Given the description of an element on the screen output the (x, y) to click on. 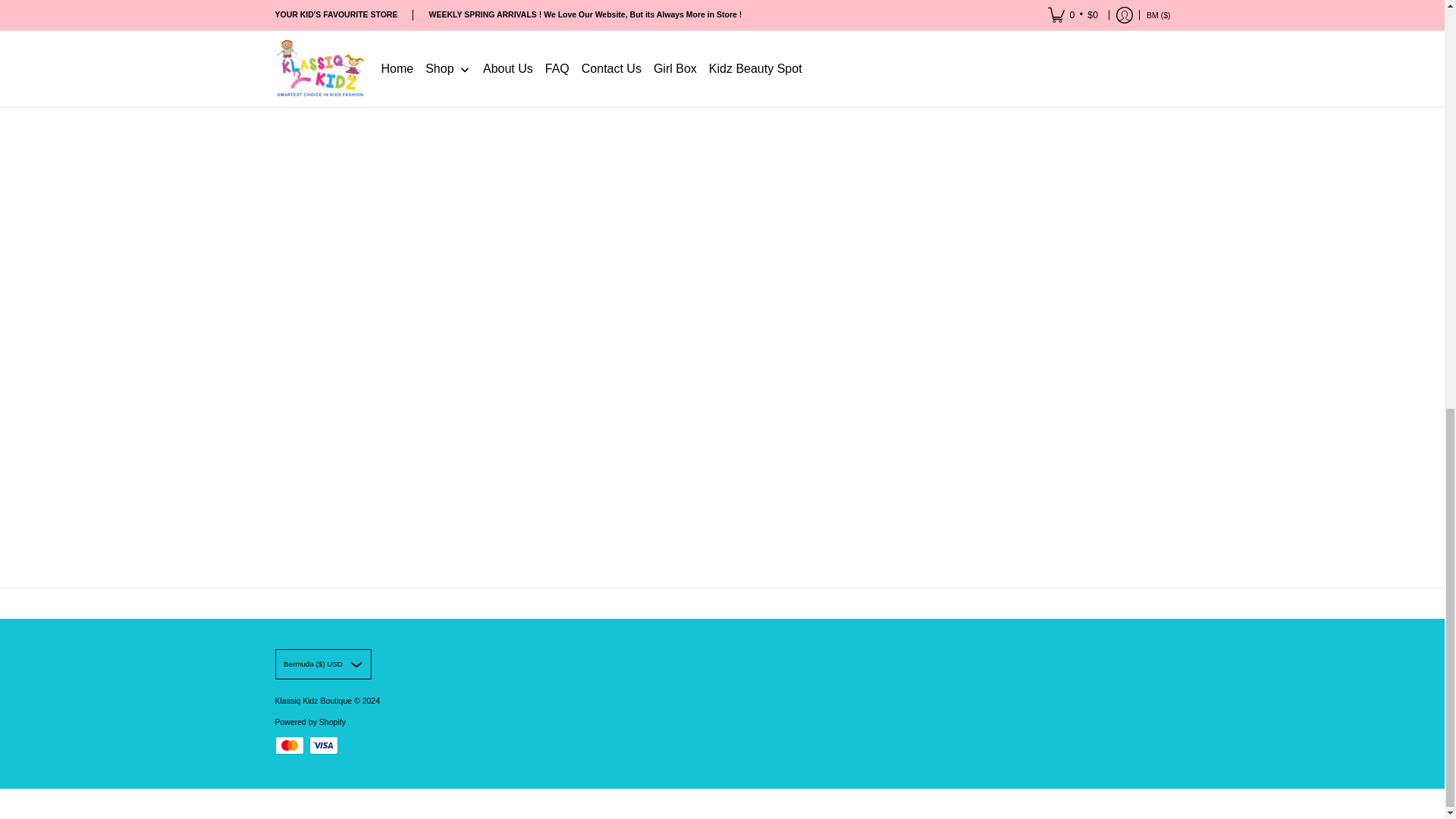
Visa (322, 745)
Mastercard (288, 745)
Update store currency (323, 664)
